Given the description of an element on the screen output the (x, y) to click on. 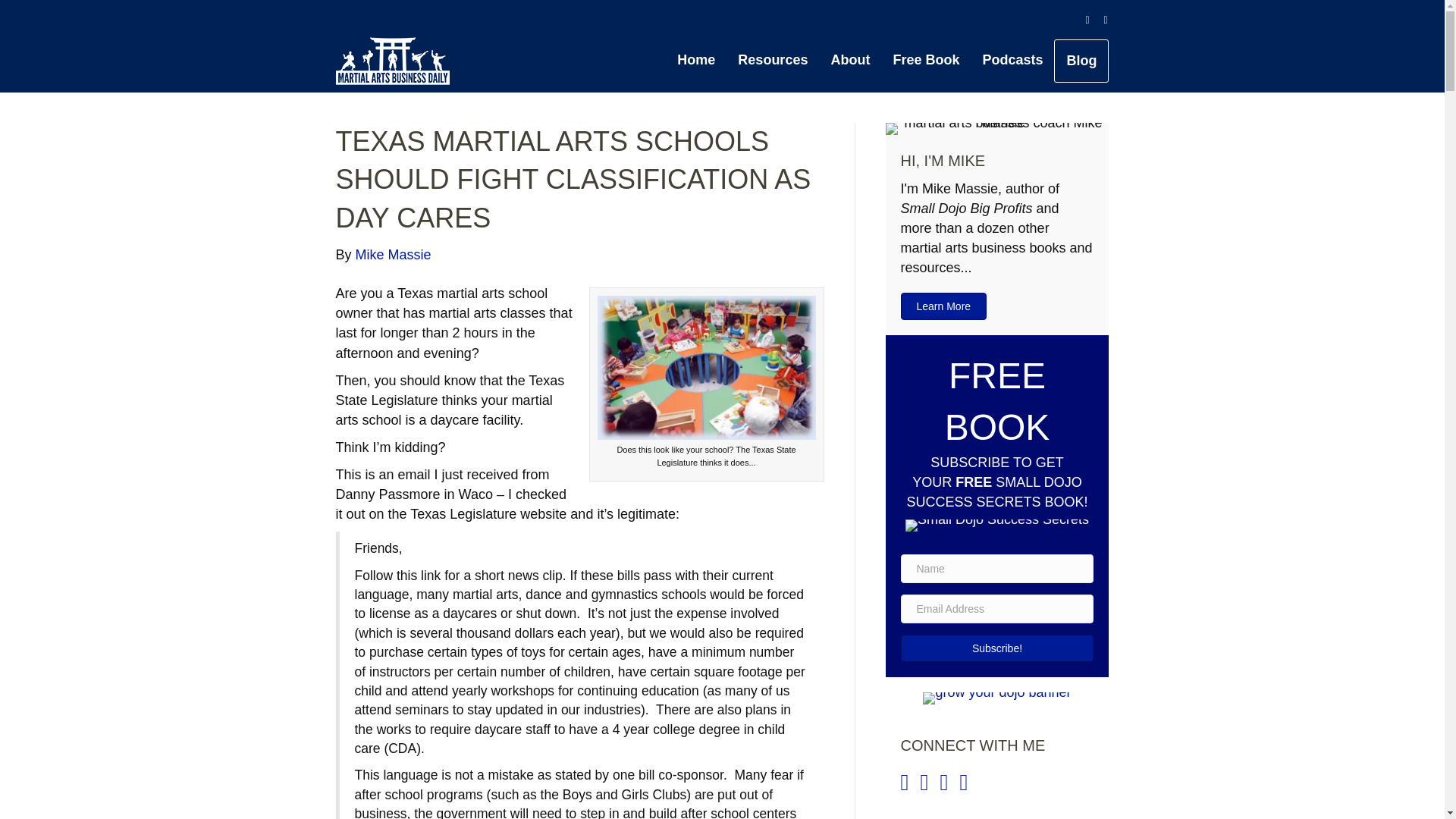
mike-massie-profile (997, 128)
Podcasts (1012, 60)
Free Book (925, 60)
Resources (772, 60)
Blog (1081, 60)
Facebook (1079, 19)
Home (695, 60)
daycare (705, 367)
small-dojo-success-secrets-3d-500 (997, 525)
